Given the description of an element on the screen output the (x, y) to click on. 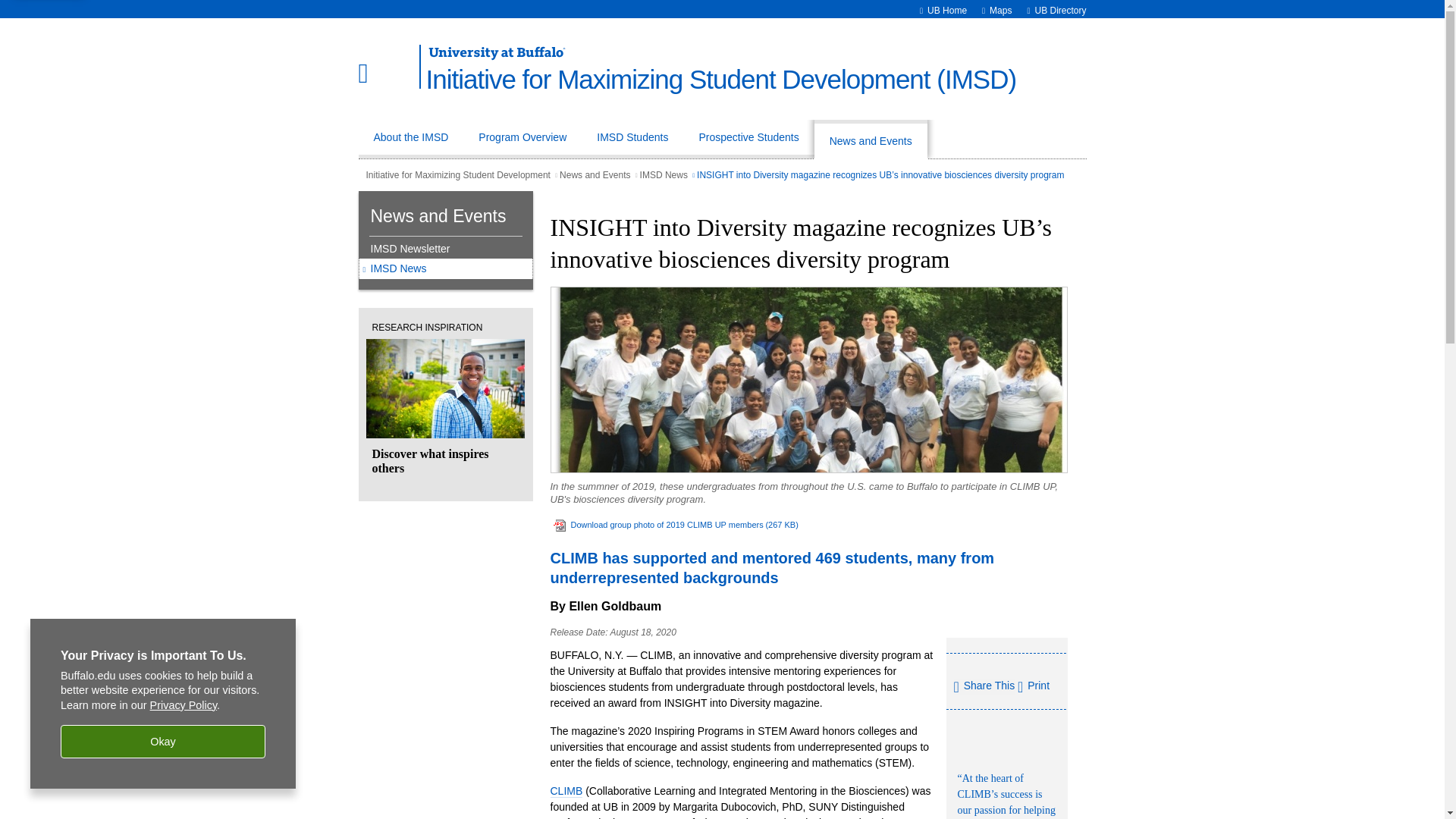
Discover what inspires others (444, 407)
Program Overview (522, 138)
Share This (983, 686)
Print (1033, 685)
By Ellen Goldbaum (606, 605)
Prospective Students (748, 138)
News and Events (870, 138)
Maps (1000, 9)
IMSD News (445, 268)
IMSD Newsletter (441, 248)
